Given the description of an element on the screen output the (x, y) to click on. 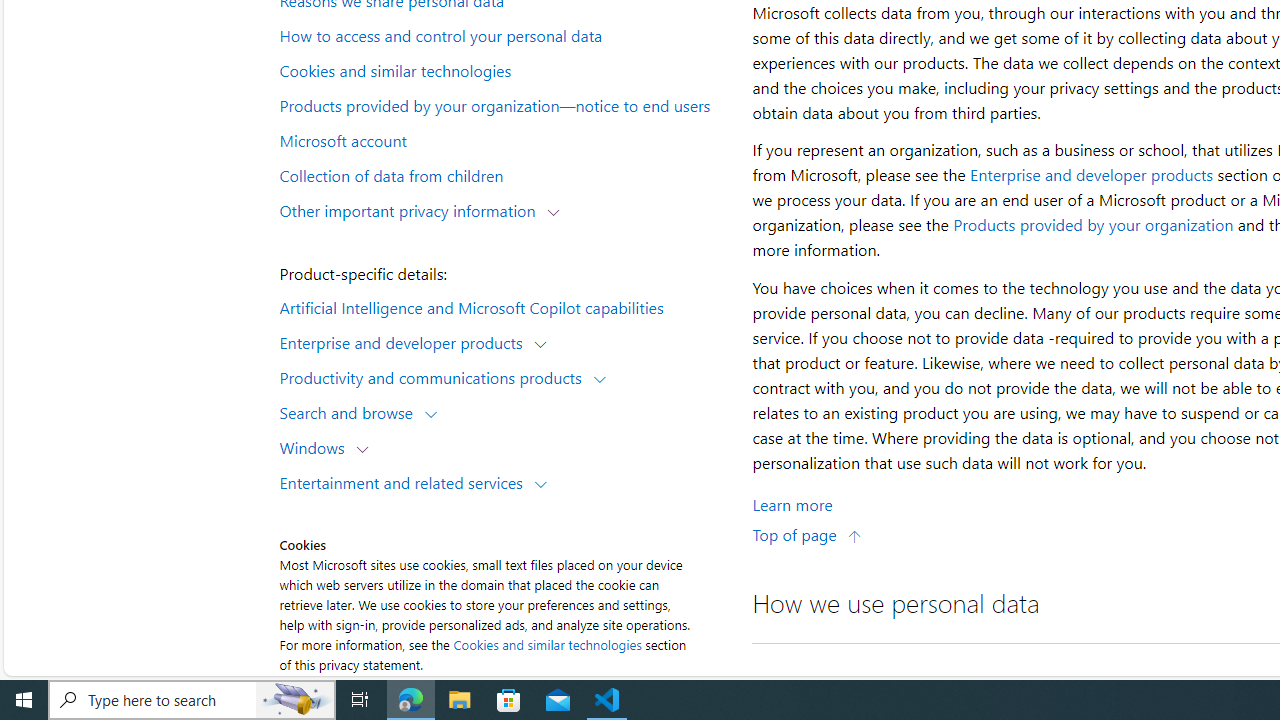
Artificial Intelligence and Microsoft Copilot capabilities (504, 306)
Other important privacy information (412, 209)
Enterprise and developer products (405, 341)
Search and browse (350, 412)
Productivity and communications products (435, 376)
Windows (316, 446)
Products provided by your organization (1093, 224)
Entertainment and related services (405, 481)
Enterprise and developer products (1091, 174)
Microsoft account (504, 139)
Top of page (807, 534)
Learn More about Personal data we collect (792, 504)
Collection of data from children (504, 174)
How to access and control your personal data (504, 35)
